Given the description of an element on the screen output the (x, y) to click on. 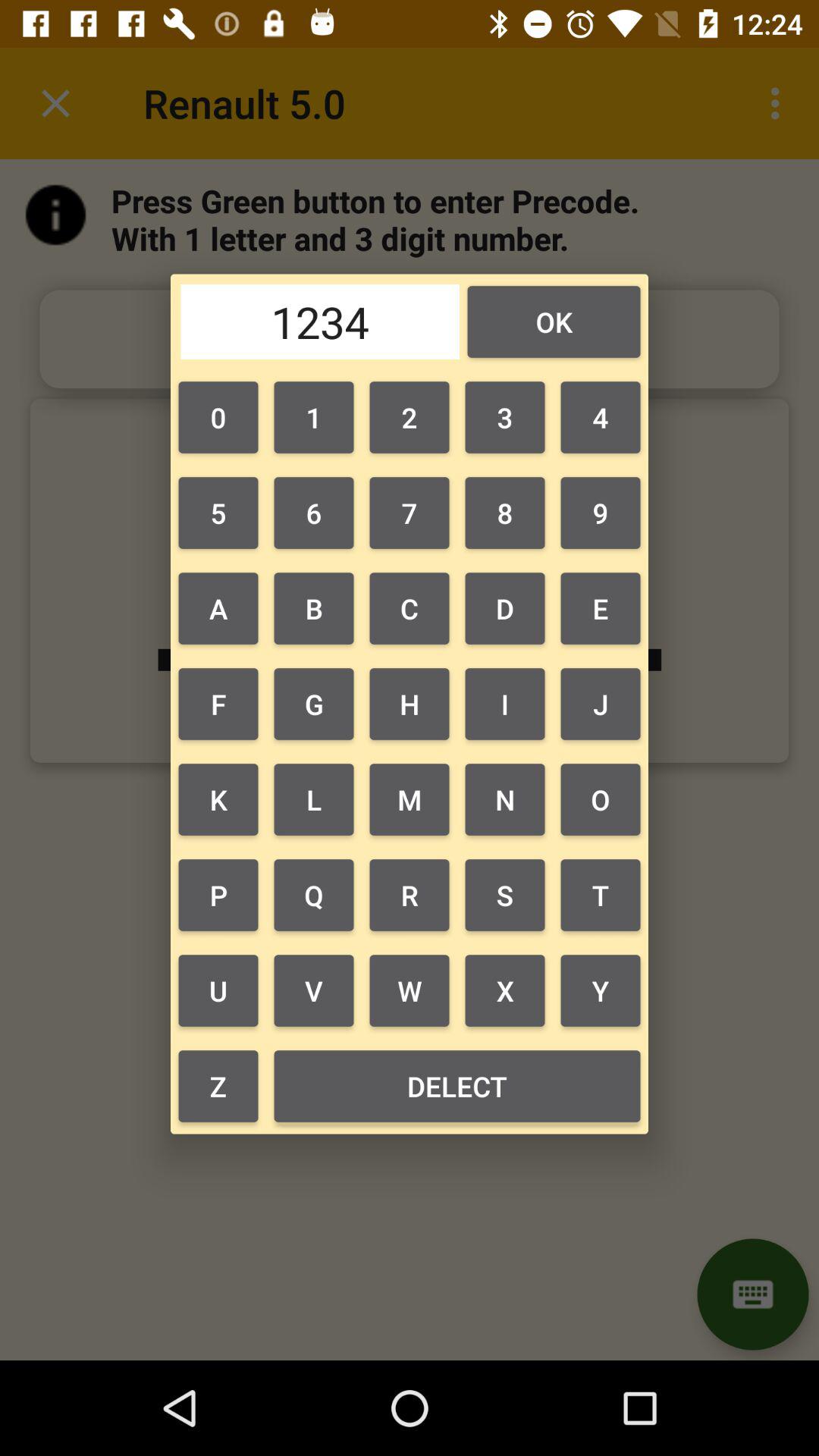
press the icon below u (457, 1086)
